Given the description of an element on the screen output the (x, y) to click on. 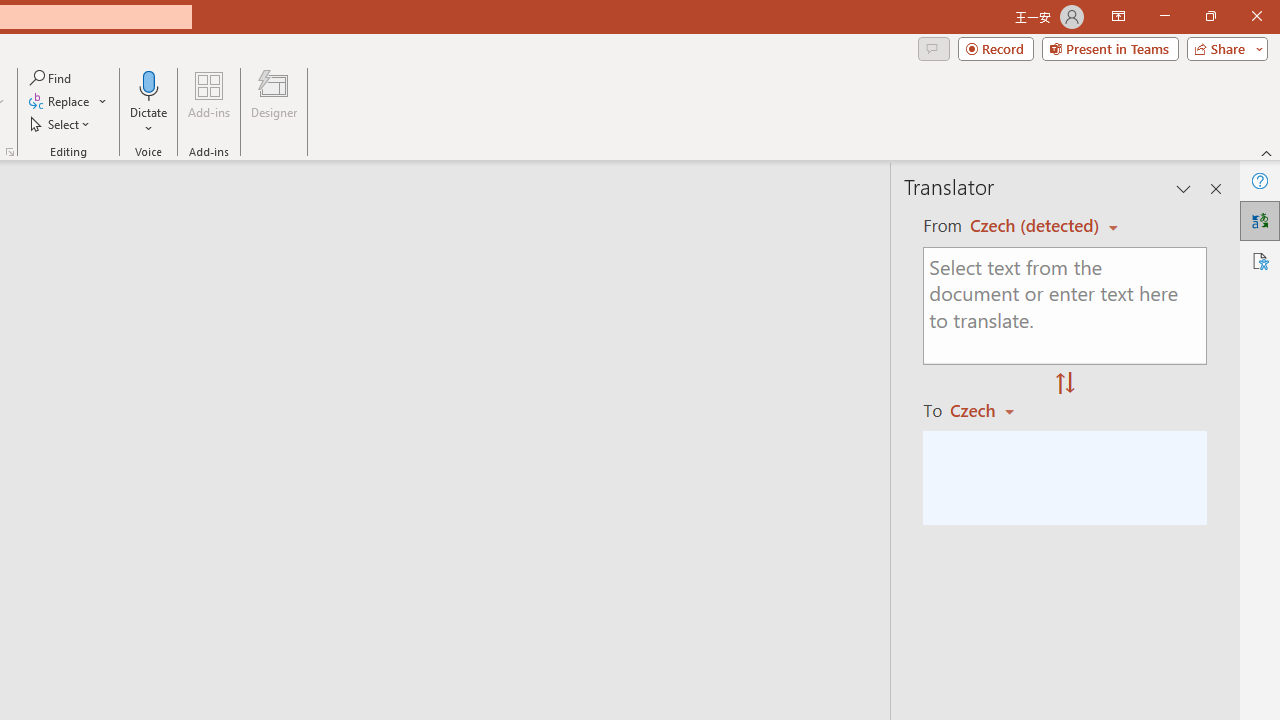
Czech (detected) (1037, 225)
